Given the description of an element on the screen output the (x, y) to click on. 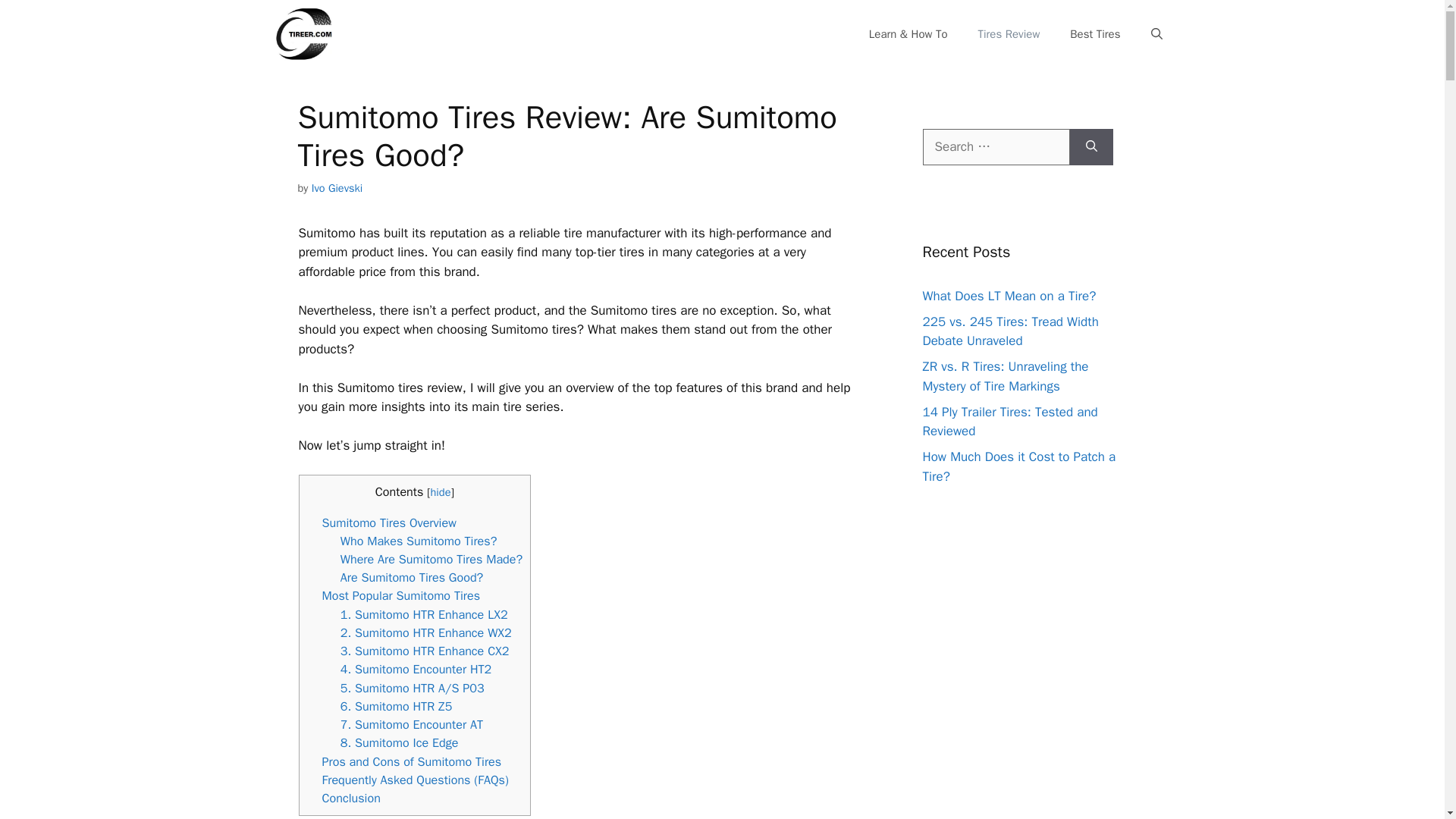
6. Sumitomo HTR Z5 (396, 706)
Where Are Sumitomo Tires Made? (431, 559)
hide (440, 491)
Conclusion (350, 797)
Most Popular Sumitomo Tires (400, 595)
Tires Review (1008, 33)
Are Sumitomo Tires Good? (411, 577)
7. Sumitomo Encounter AT (411, 724)
Best Tires (1094, 33)
Pros and Cons of Sumitomo Tires (410, 761)
